Given the description of an element on the screen output the (x, y) to click on. 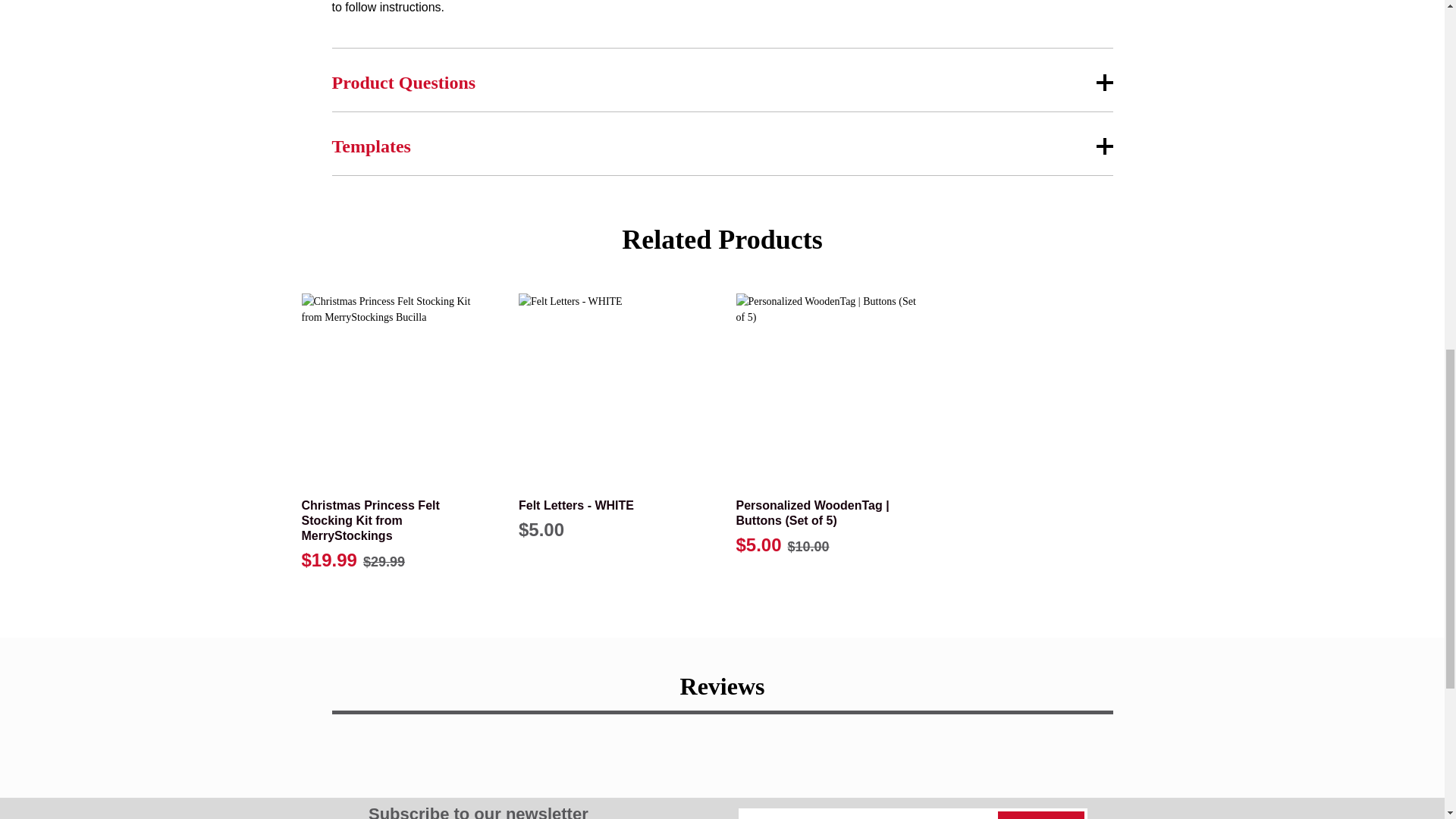
Subscribe (1040, 815)
Felt Letters - WHITE (613, 387)
